Given the description of an element on the screen output the (x, y) to click on. 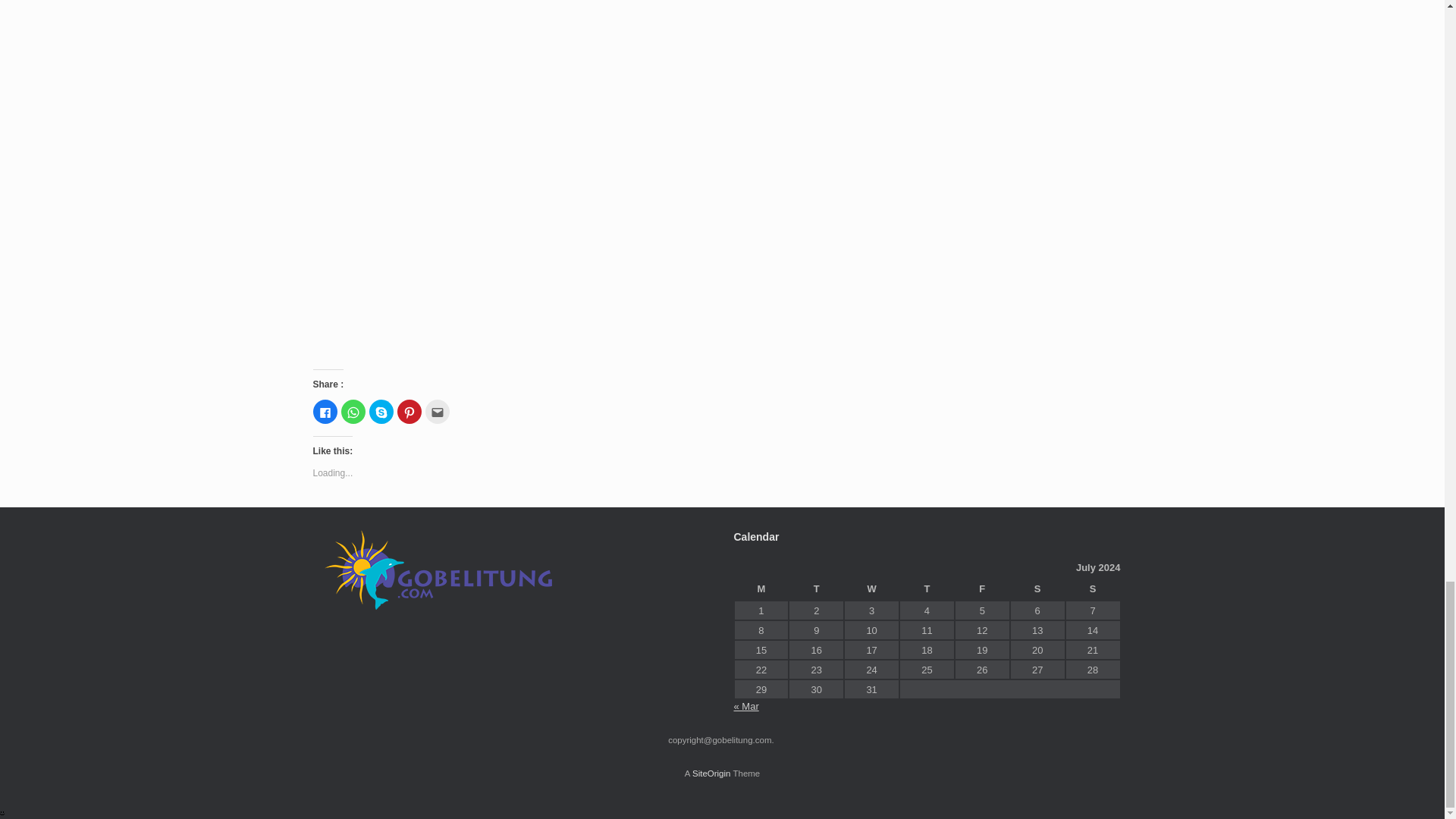
Click to share on Skype (380, 411)
Wednesday (871, 589)
Click to email this to a friend (436, 411)
Click to share on Pinterest (409, 411)
Thursday (927, 589)
Monday (761, 589)
Tuesday (816, 589)
Click to share on WhatsApp (352, 411)
Click to share on Facebook (324, 411)
